Given the description of an element on the screen output the (x, y) to click on. 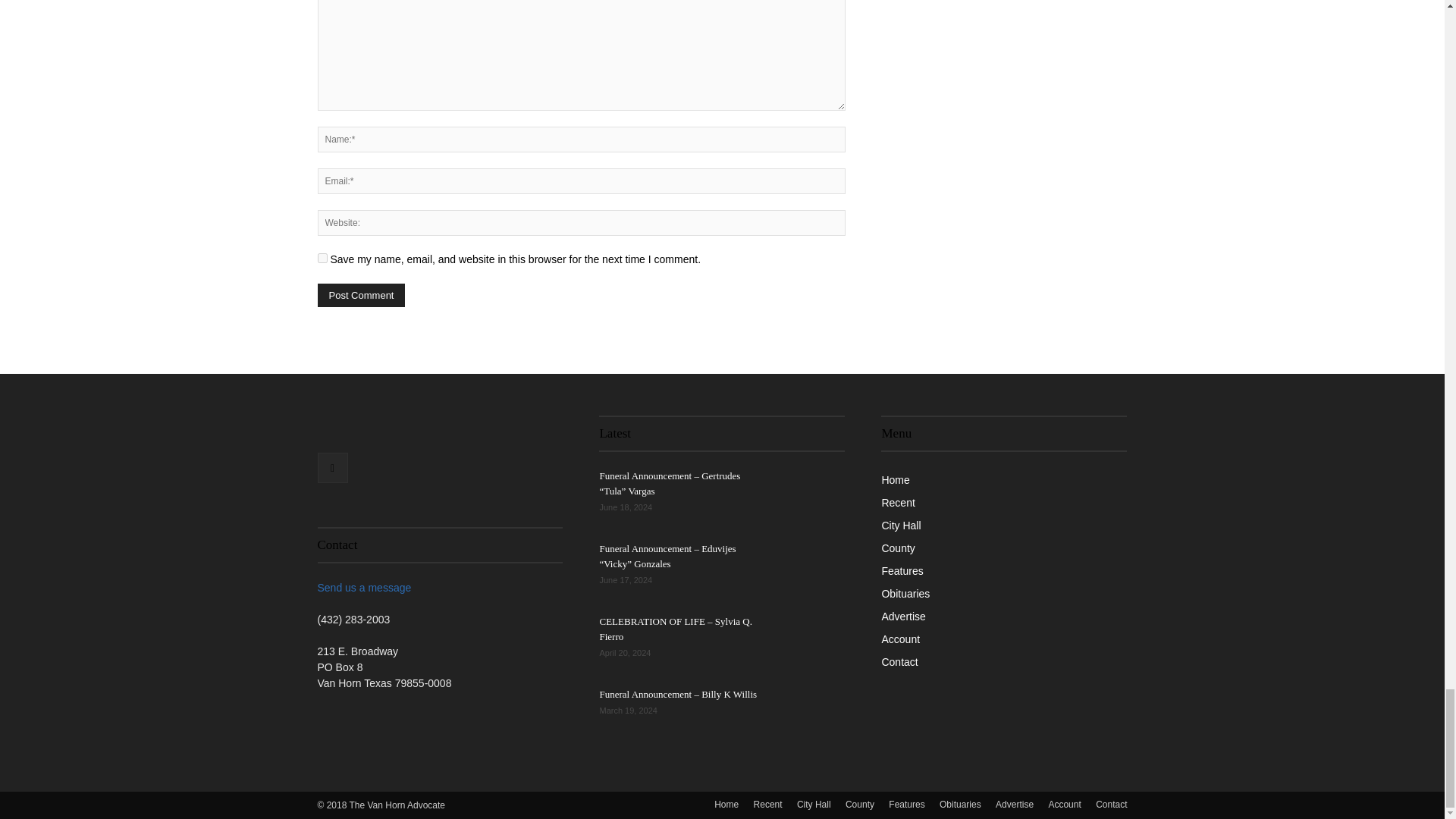
Facebook (332, 467)
yes (321, 257)
Post Comment (360, 295)
